Given the description of an element on the screen output the (x, y) to click on. 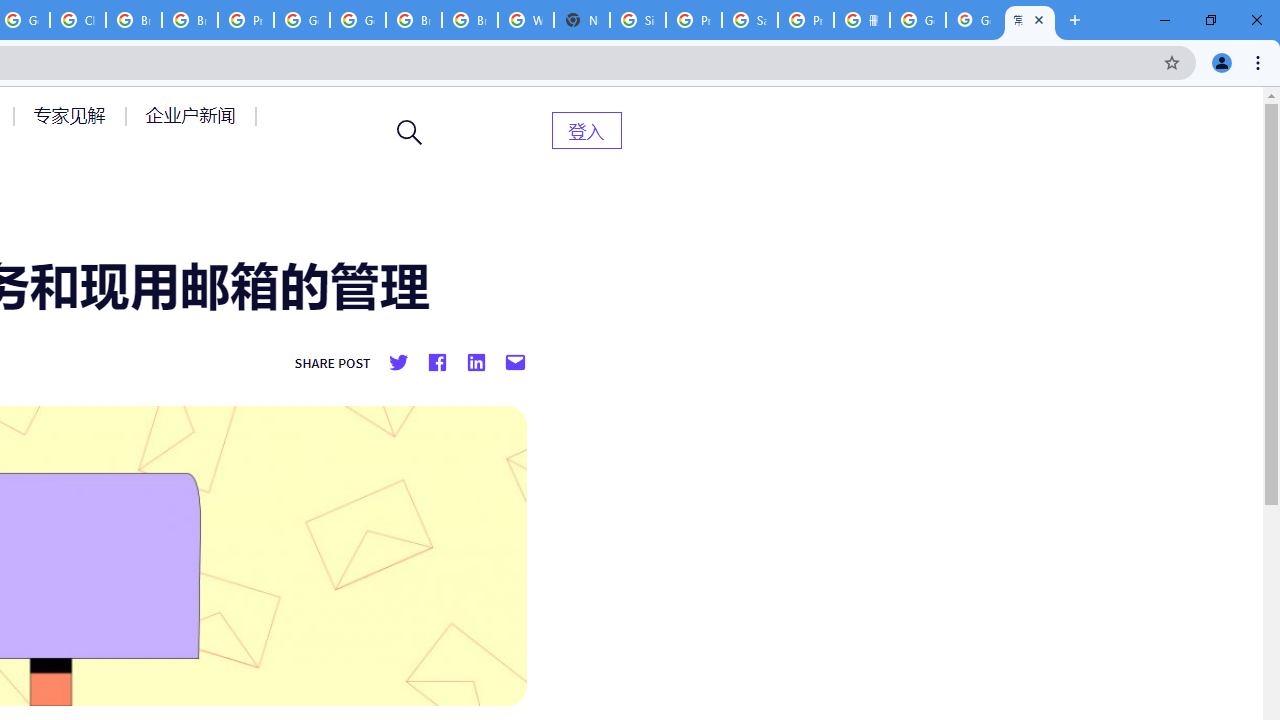
Google Cloud Platform (358, 20)
AutomationID: menu-item-82399 (586, 129)
Share by mail (515, 363)
Share on facebook (436, 363)
